Given the description of an element on the screen output the (x, y) to click on. 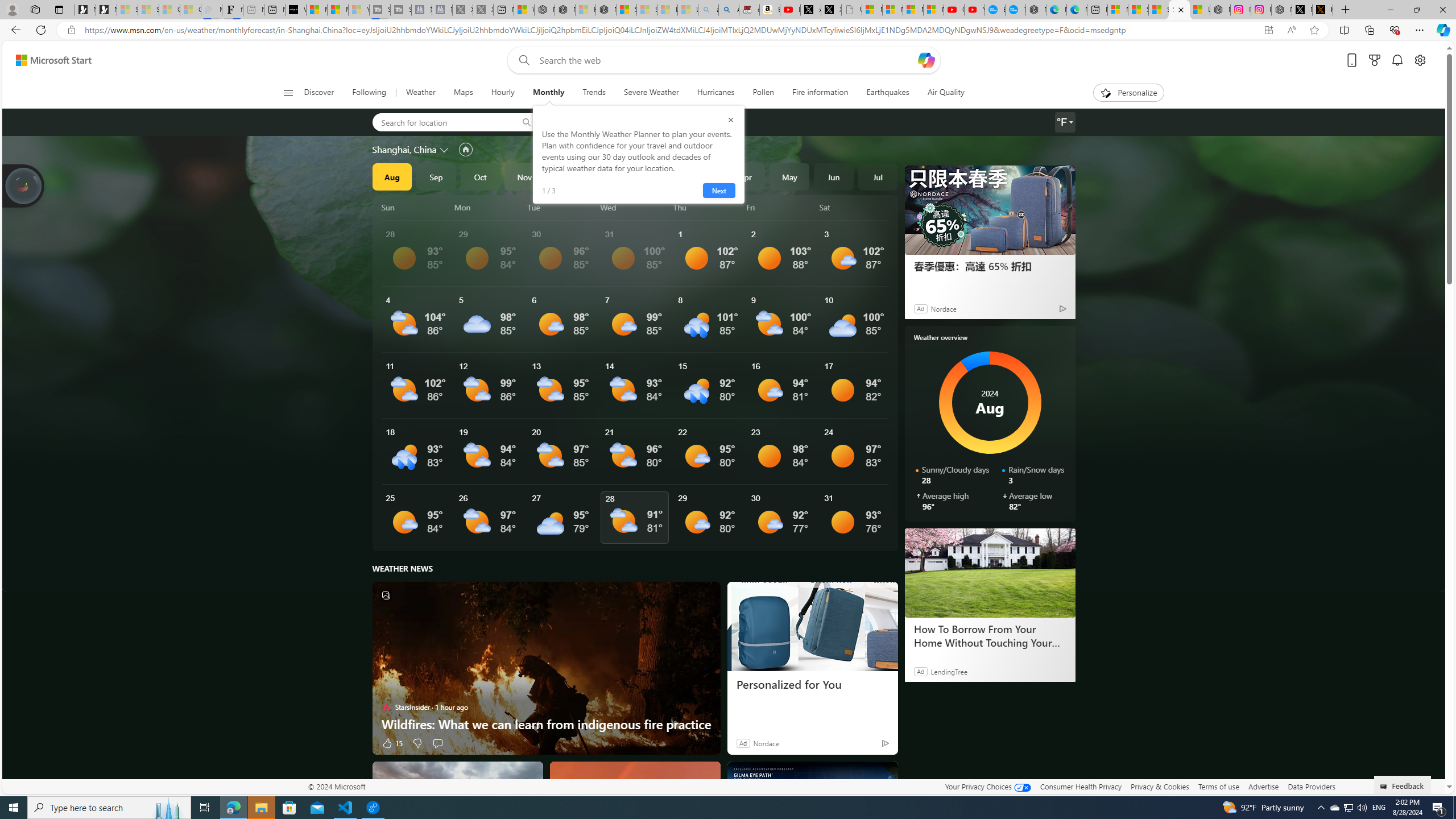
Consumer Health Privacy (1080, 785)
See More Details (853, 517)
May (789, 176)
Search for location (440, 122)
Privacy & Cookies (1160, 785)
Class: button-glyph (287, 92)
